Given the description of an element on the screen output the (x, y) to click on. 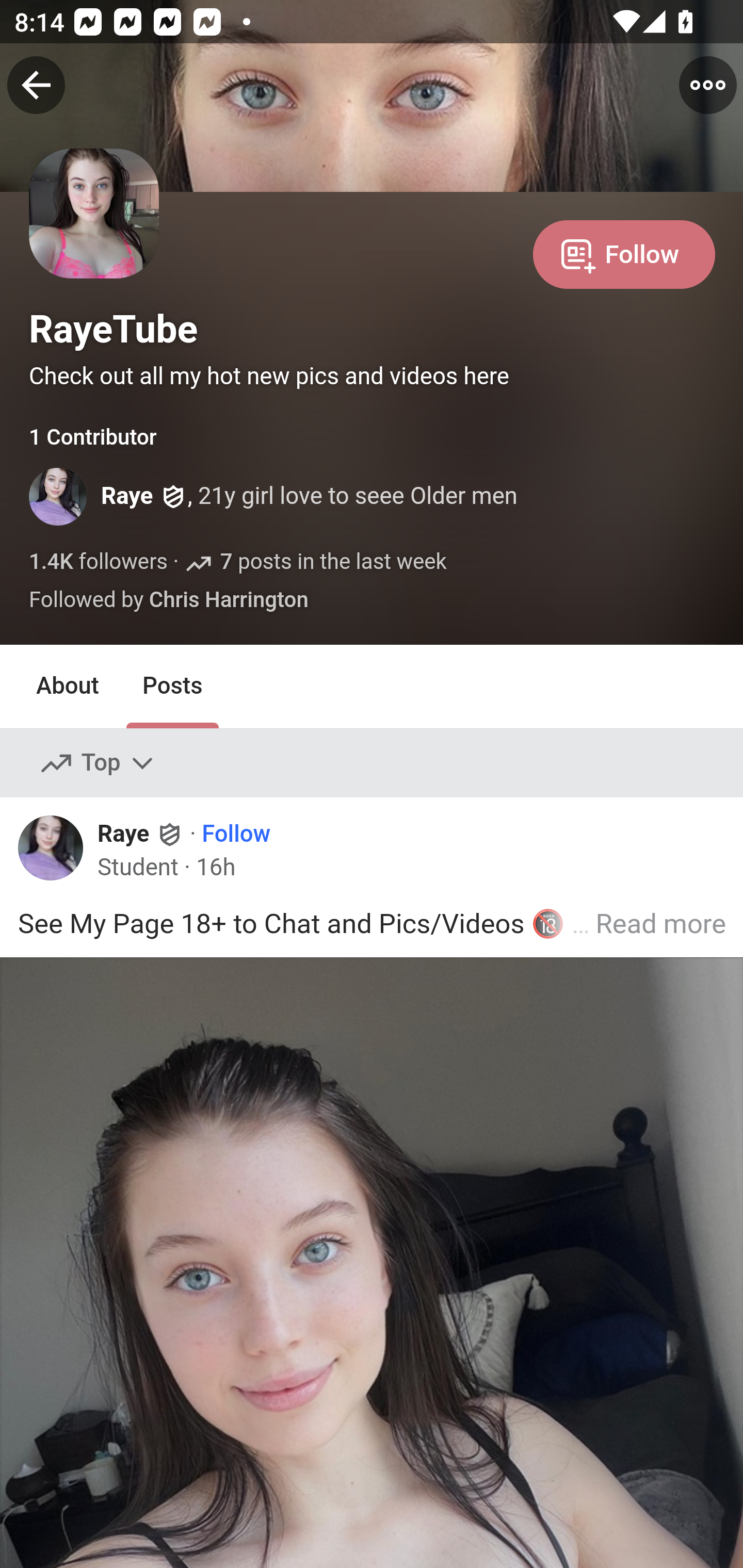
Icon for RayeTube (94, 239)
Follow (623, 252)
RayeTube (113, 329)
Profile photo for Raye (58, 496)
Raye (127, 496)
1.4K followers (98, 562)
Chris Harrington (227, 600)
About (68, 685)
Posts (171, 685)
Top (97, 762)
Profile photo for Raye (57, 852)
Profile photo for Raye (50, 847)
Raye Raye   (141, 833)
Follow (235, 833)
16h 16 h (215, 867)
